Given the description of an element on the screen output the (x, y) to click on. 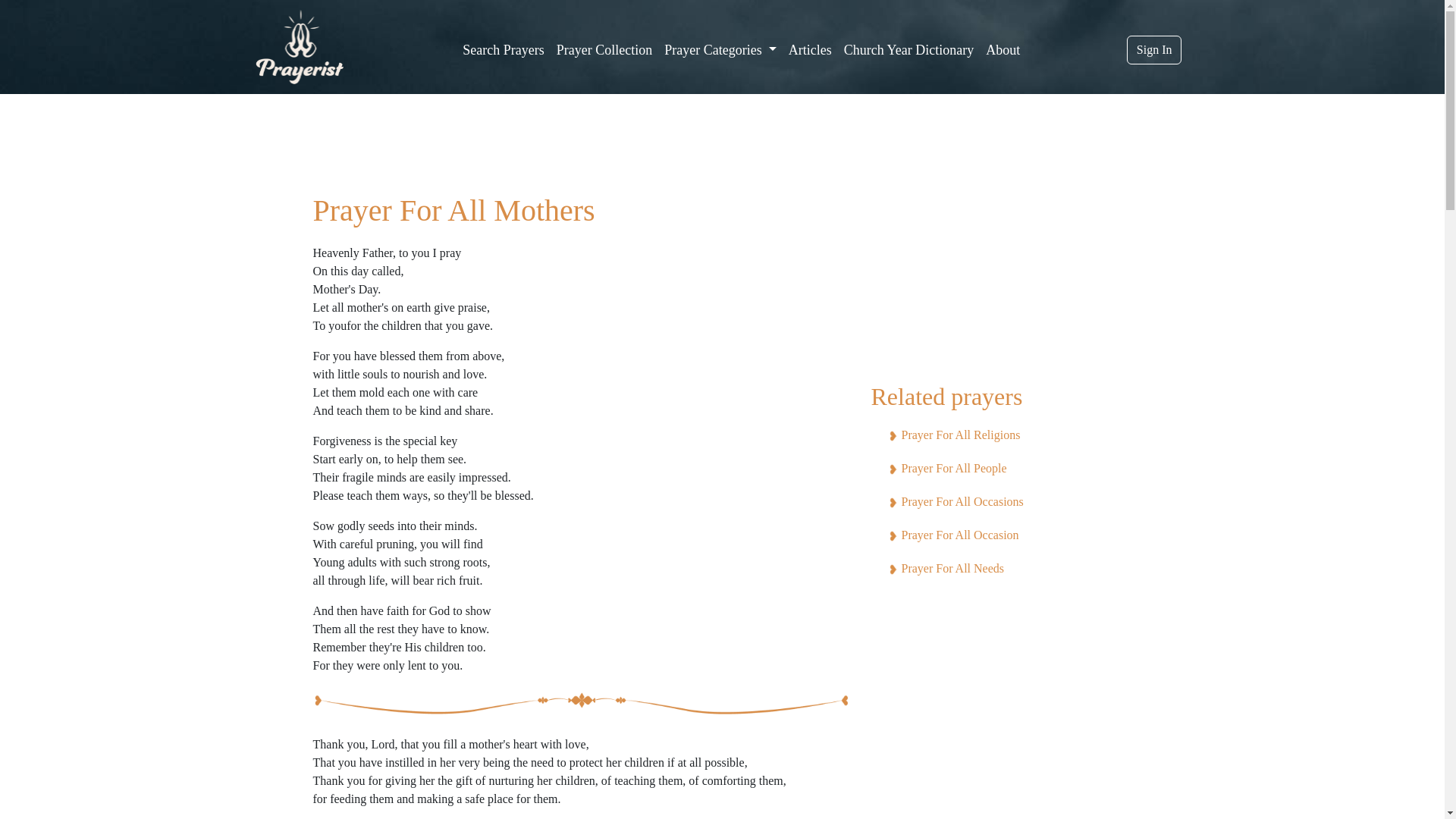
Prayer For All Occasion (959, 534)
Church Year Dictionary (908, 49)
Search Prayers (503, 49)
Prayer Collection (604, 49)
Prayer For All People (953, 468)
Prayer For All Needs (952, 567)
Prayer For All Occasions (962, 501)
Sign In (1154, 50)
About (1002, 49)
Prayer Categories (720, 49)
Prayer For All Religions (960, 434)
Articles (810, 49)
